Given the description of an element on the screen output the (x, y) to click on. 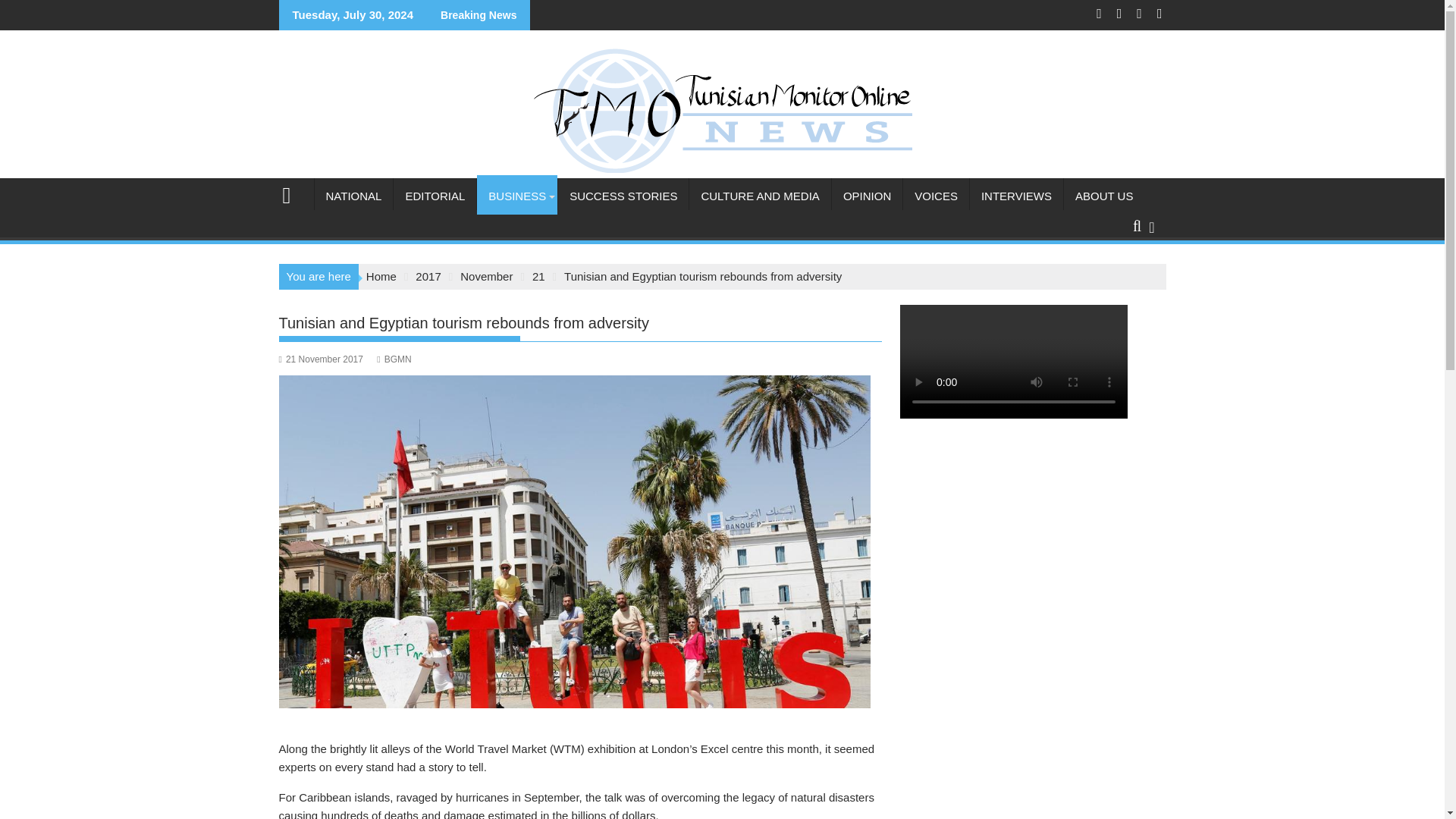
Tunisian Monitor Online (293, 193)
Home (381, 276)
INTERVIEWS (1015, 196)
BGMN (393, 358)
CULTURE AND MEDIA (758, 196)
21 (538, 276)
November (486, 276)
21 November 2017 (320, 358)
2017 (427, 276)
SUCCESS STORIES (622, 196)
NATIONAL (353, 196)
VOICES (935, 196)
OPINION (866, 196)
Tunisian Monitor Online (721, 168)
EDITORIAL (434, 196)
